Given the description of an element on the screen output the (x, y) to click on. 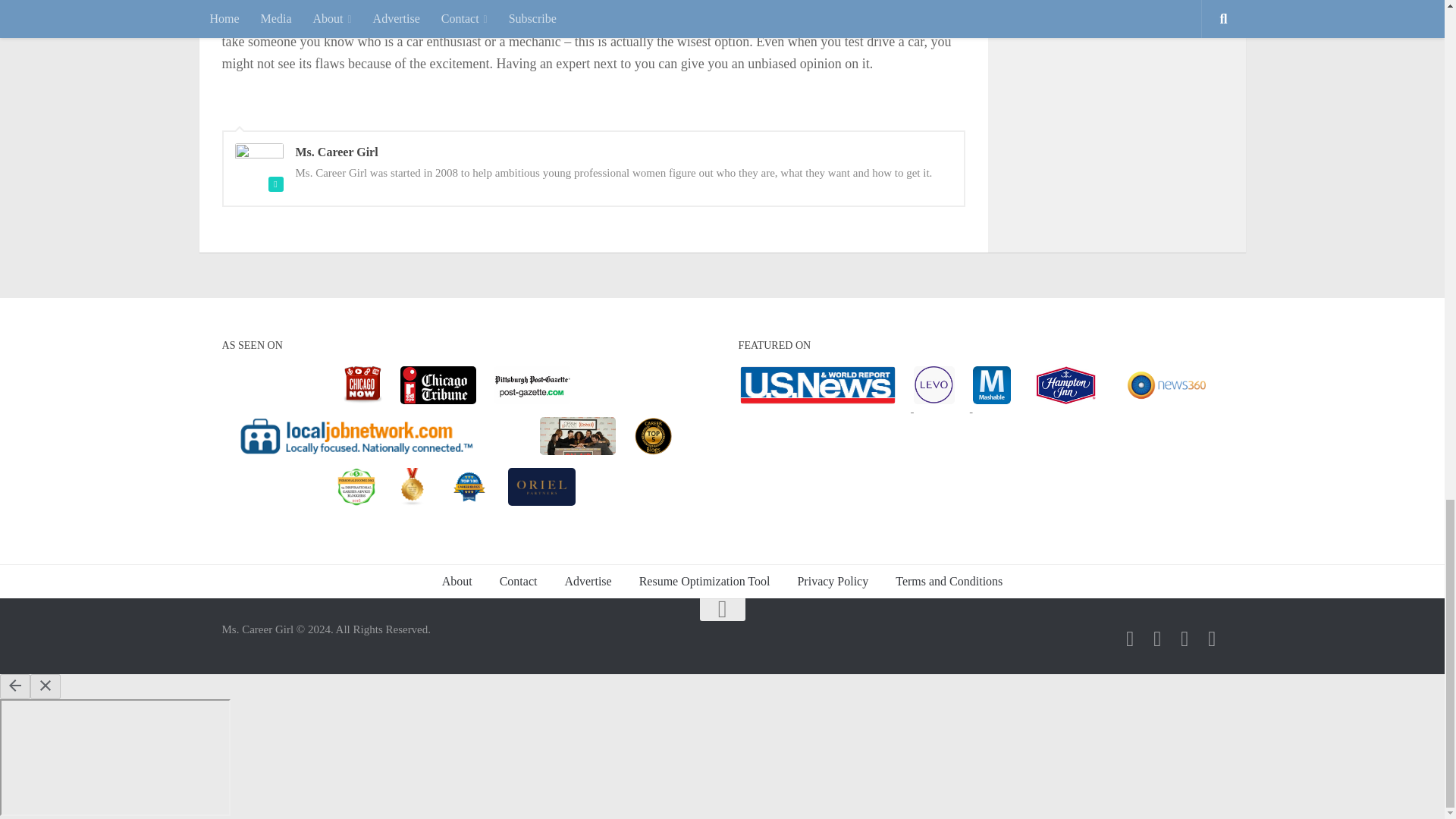
Follow us on Facebook (1129, 639)
Follow us on Twitter (1157, 639)
